Given the description of an element on the screen output the (x, y) to click on. 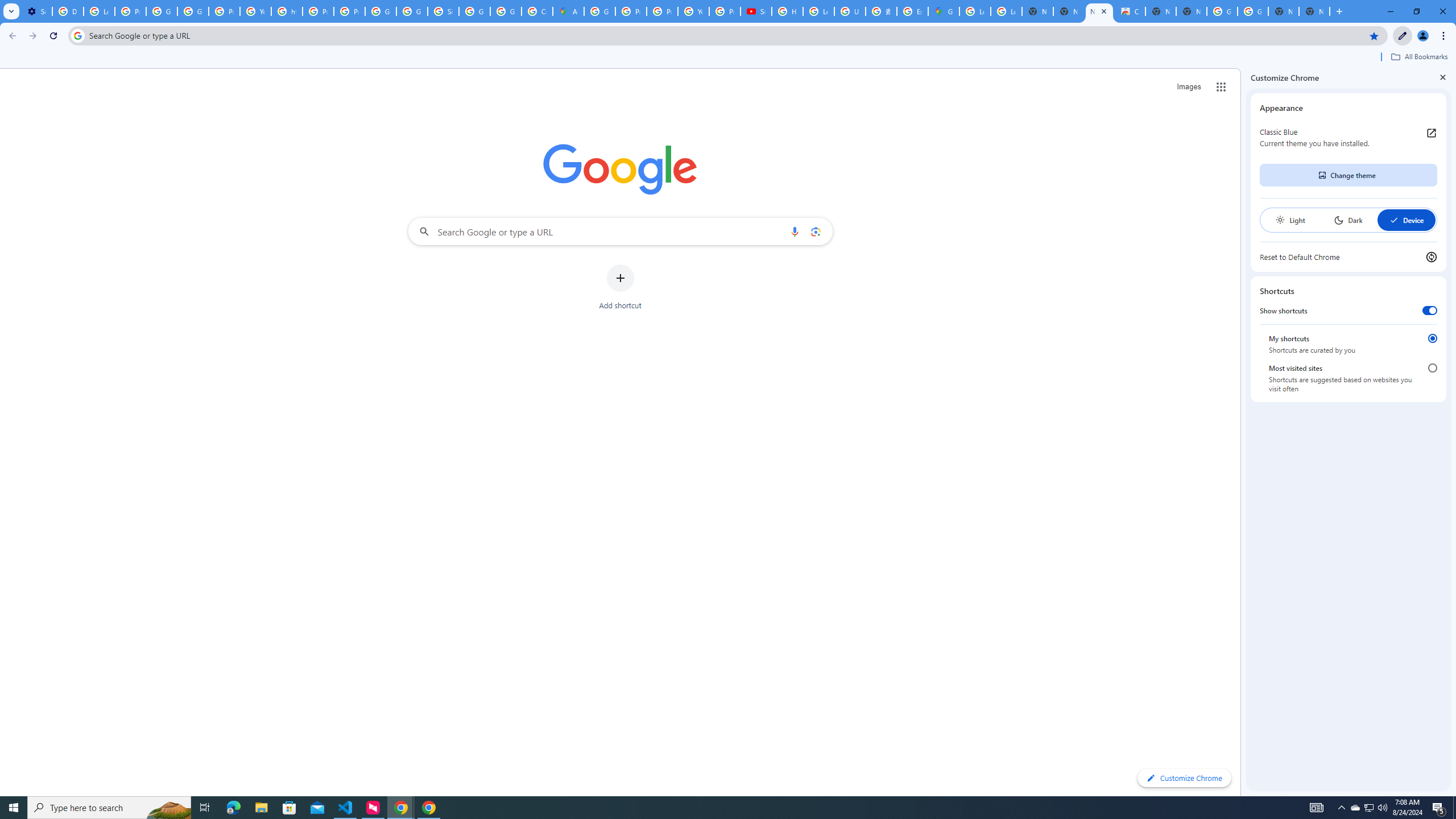
AutomationID: baseSvg (1394, 219)
Sign in - Google Accounts (443, 11)
How Chrome protects your passwords - Google Chrome Help (787, 11)
Google Maps (943, 11)
Side Panel Resize Handle (1242, 431)
Search Google or type a URL (619, 230)
Create your Google Account (536, 11)
